Given the description of an element on the screen output the (x, y) to click on. 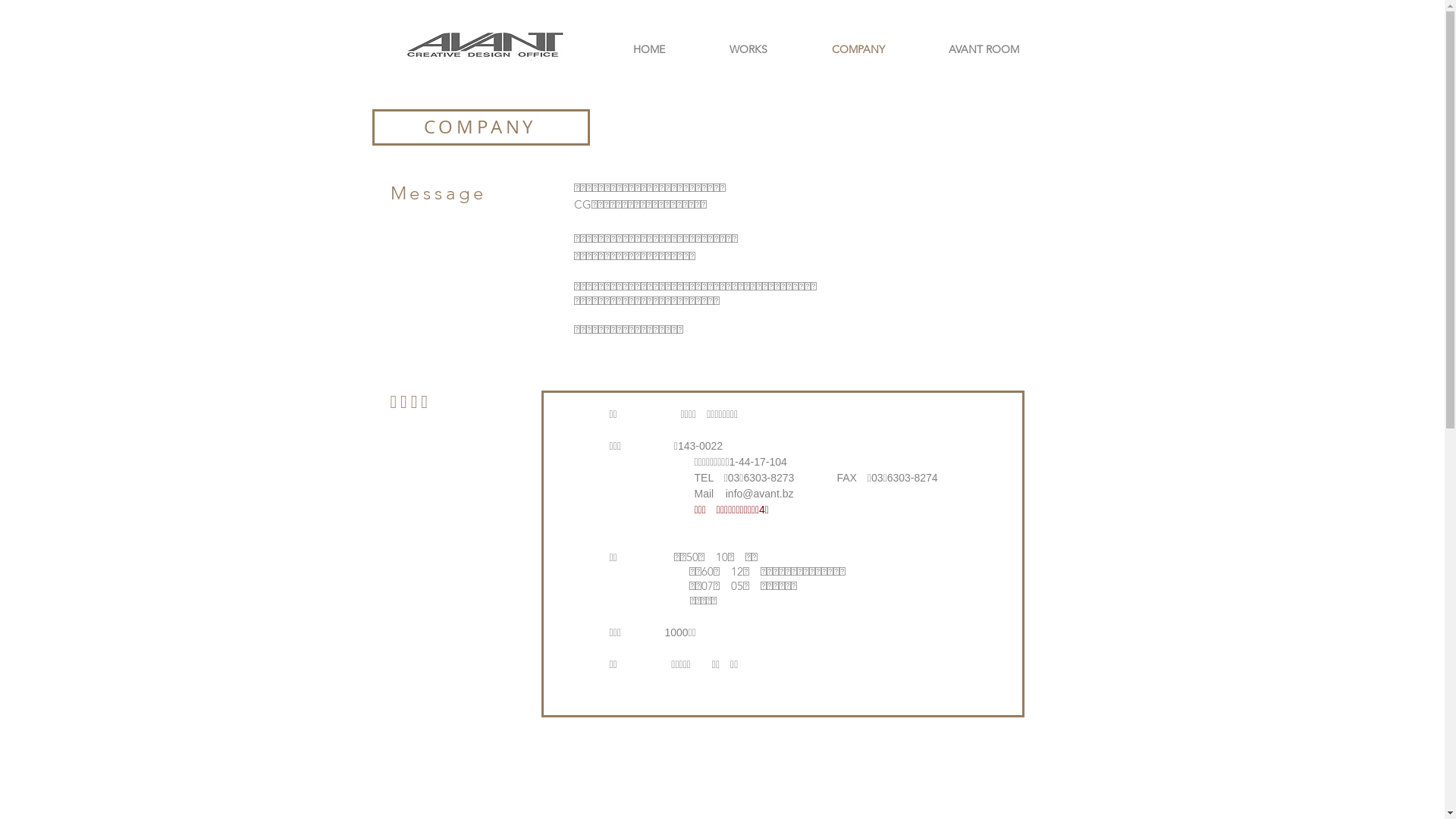
WORKS Element type: text (748, 48)
AVANT ROOM Element type: text (983, 48)
HOME Element type: text (648, 48)
COMPANY Element type: text (857, 48)
info@avant.bz Element type: text (759, 493)
